Given the description of an element on the screen output the (x, y) to click on. 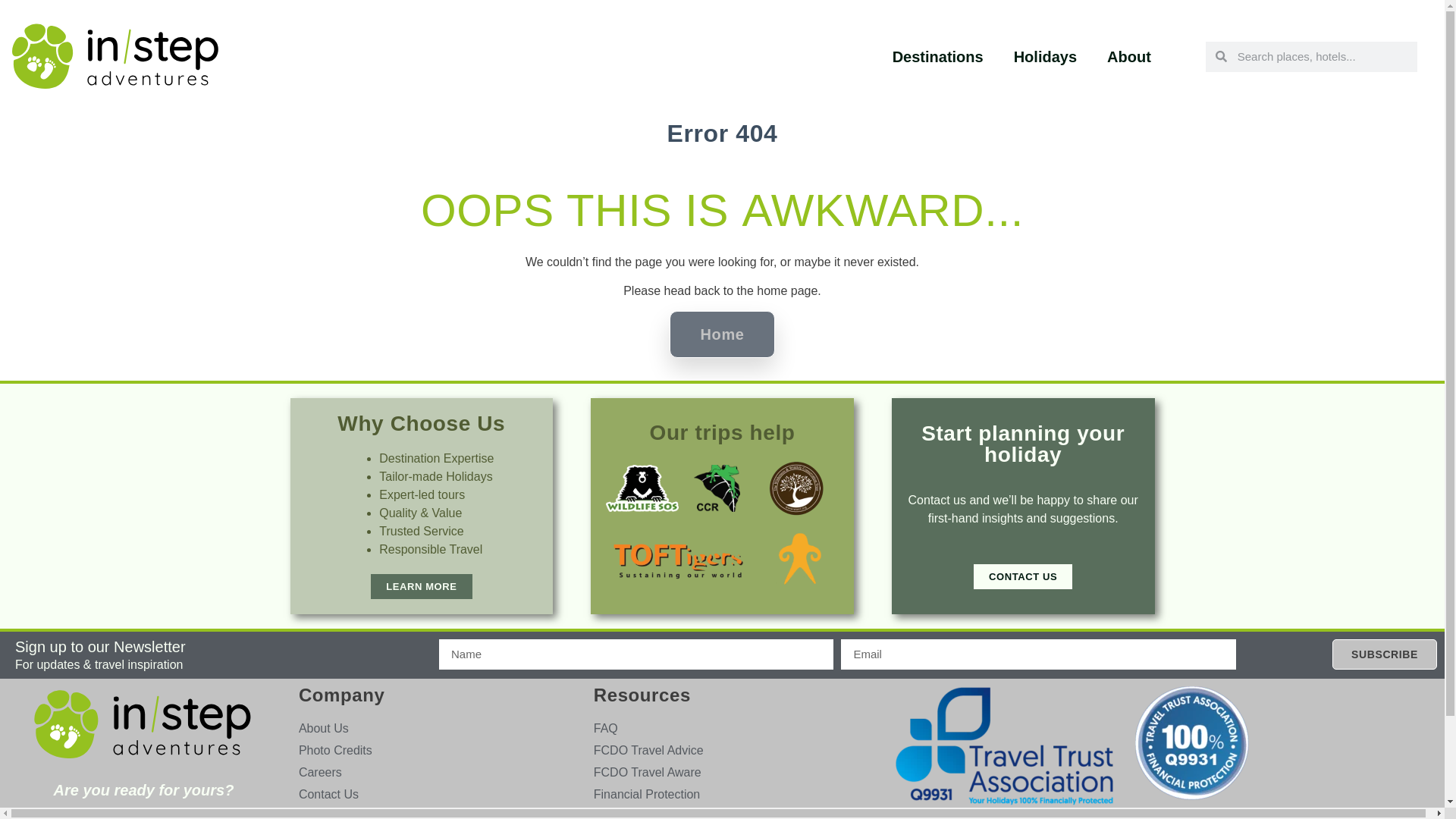
About (1129, 56)
Destinations (937, 56)
Holidays (1045, 56)
